Given the description of an element on the screen output the (x, y) to click on. 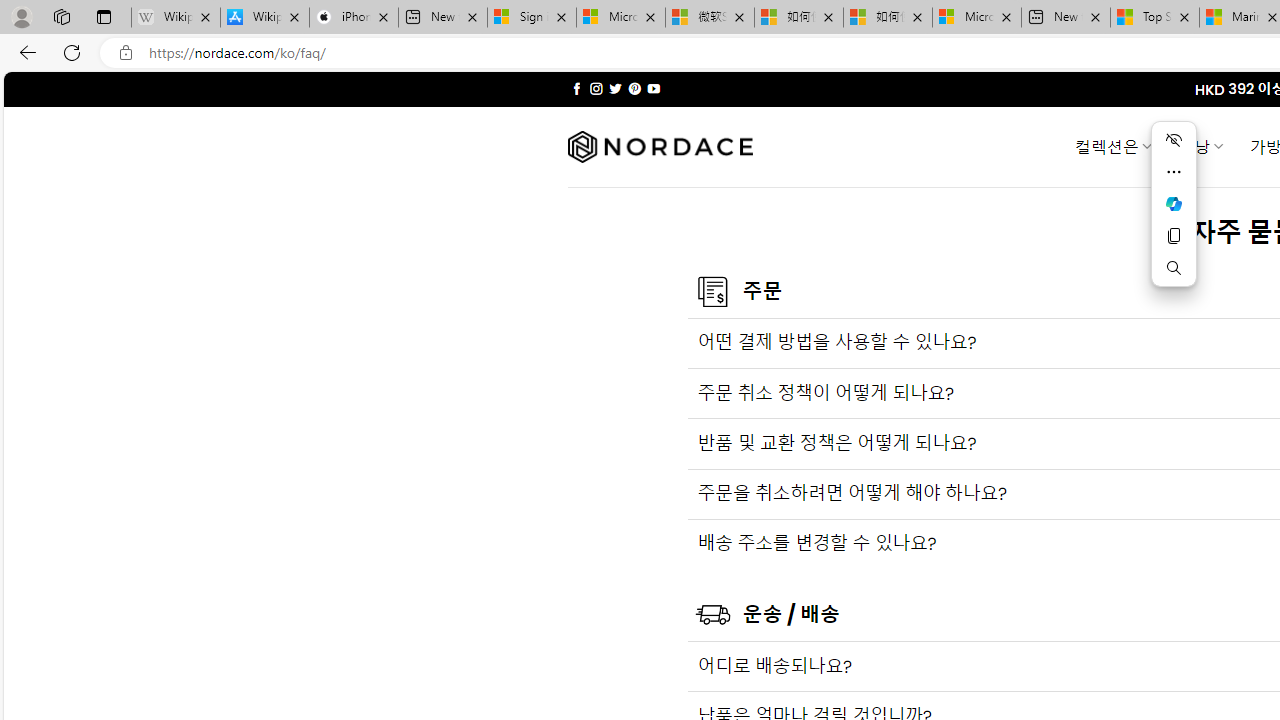
Copy (1173, 235)
Follow on Pinterest (634, 88)
Mini menu on text selection (1173, 203)
Follow on Instagram (596, 88)
Follow on Facebook (576, 88)
